Given the description of an element on the screen output the (x, y) to click on. 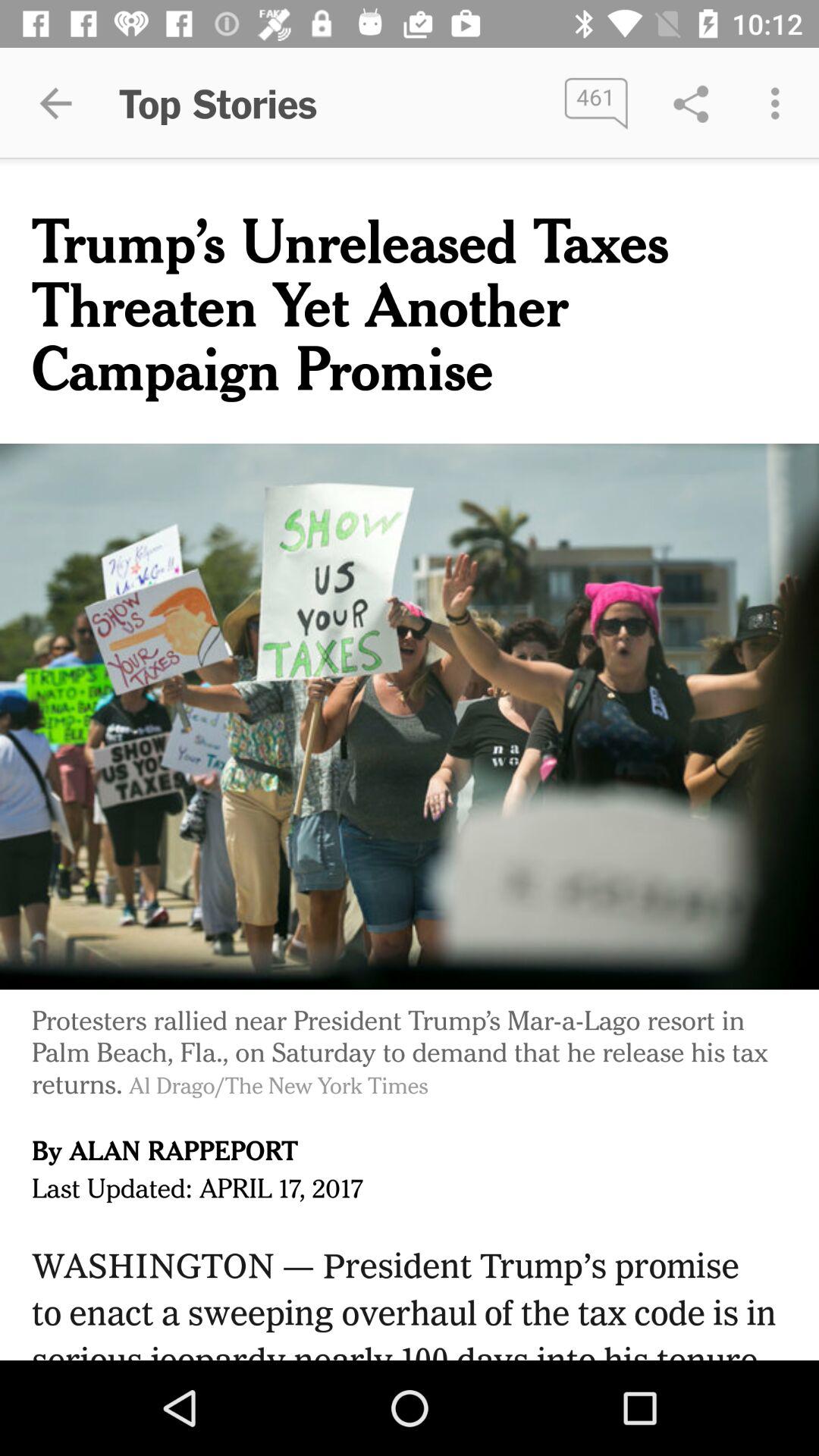
launch the item next to top stories app (595, 103)
